Given the description of an element on the screen output the (x, y) to click on. 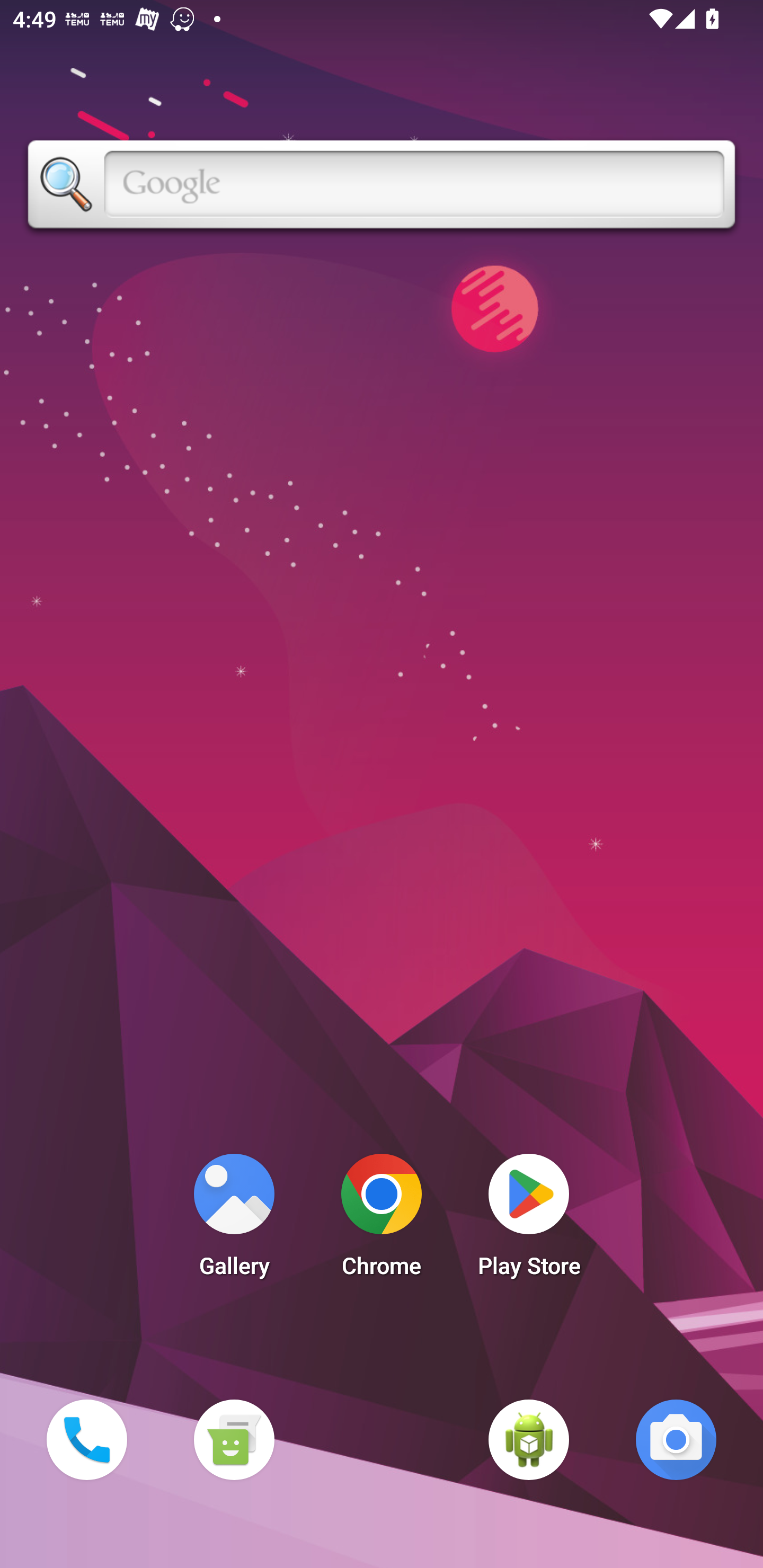
Gallery (233, 1220)
Chrome (381, 1220)
Play Store (528, 1220)
Phone (86, 1439)
Messaging (233, 1439)
WebView Browser Tester (528, 1439)
Camera (676, 1439)
